Given the description of an element on the screen output the (x, y) to click on. 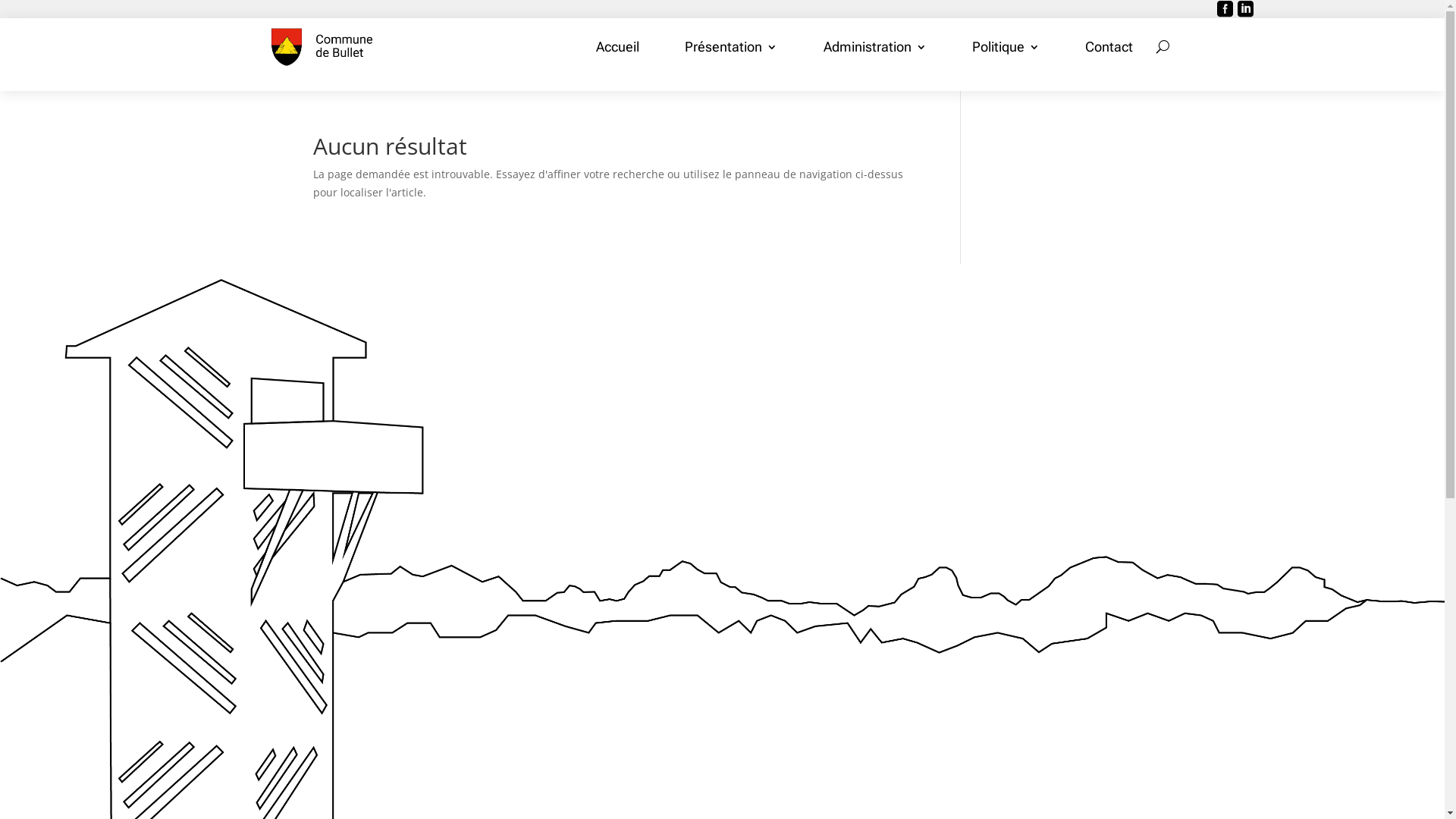
Politique Element type: text (1005, 46)
Contact Element type: text (1108, 46)
Accueil Element type: text (617, 46)
Administration Element type: text (874, 46)
